Given the description of an element on the screen output the (x, y) to click on. 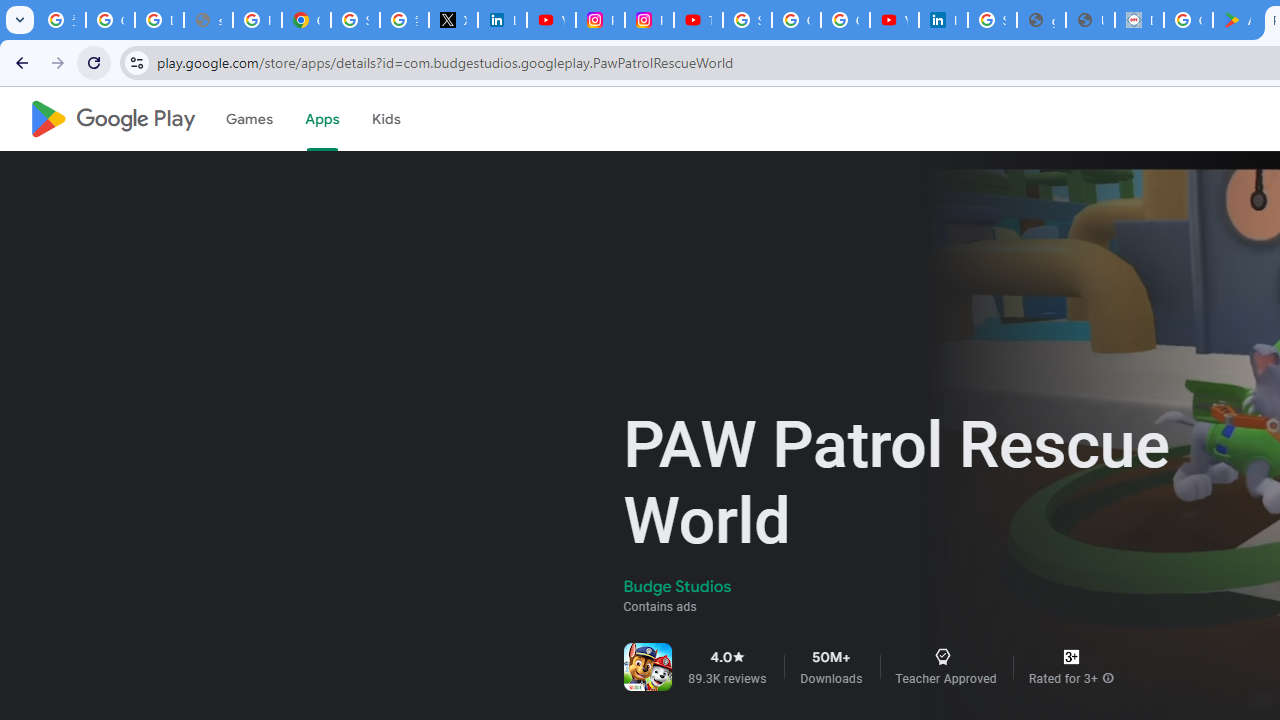
Sign in - Google Accounts (355, 20)
Kids (385, 119)
Google Play logo (111, 119)
More info about this content rating (1108, 678)
LinkedIn Privacy Policy (502, 20)
